Given the description of an element on the screen output the (x, y) to click on. 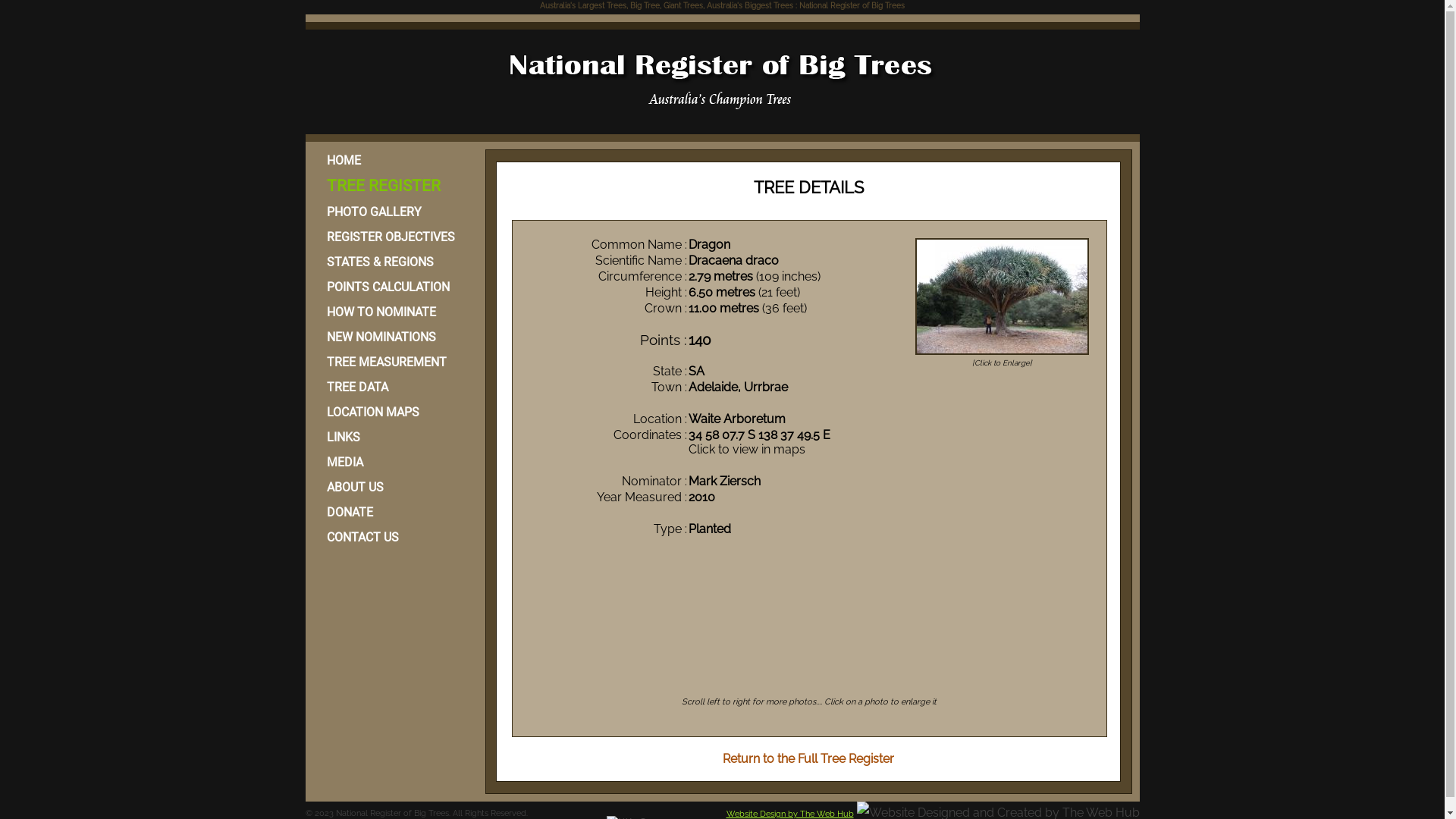
TREE DATA Element type: text (392, 387)
HOME Element type: text (392, 160)
ABOUT US Element type: text (392, 487)
Click to view in maps Element type: text (746, 449)
STATES & REGIONS Element type: text (392, 262)
DONATE Element type: text (392, 512)
REGISTER OBJECTIVES Element type: text (392, 236)
Return to the Full Tree Register Element type: text (808, 758)
LINKS Element type: text (392, 437)
TREE REGISTER Element type: text (392, 185)
Dragon : Dracaena draco Element type: hover (1001, 354)
PHOTO GALLERY Element type: text (392, 211)
MEDIA Element type: text (392, 462)
TREE MEASUREMENT Element type: text (392, 362)
CONTACT US Element type: text (392, 537)
NEW NOMINATIONS Element type: text (392, 337)
HOW TO NOMINATE Element type: text (392, 312)
Dragon : Dracaena draco Element type: hover (1001, 296)
POINTS CALCULATION Element type: text (392, 287)
LOCATION MAPS Element type: text (392, 412)
